Given the description of an element on the screen output the (x, y) to click on. 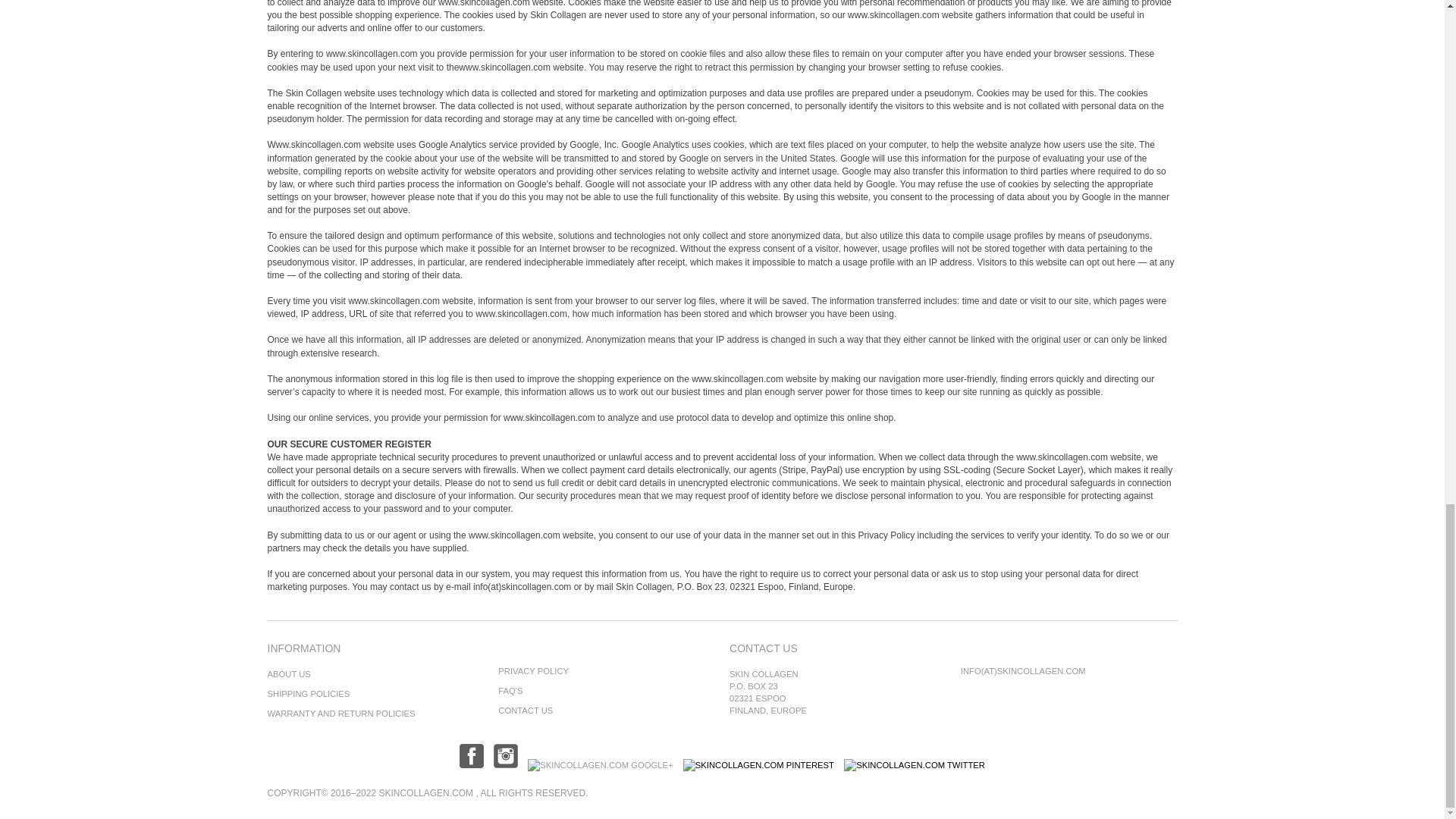
SKINCOLLAGEN.COM FACEBOOK (471, 764)
SHIPPING POLICIES (307, 693)
SKINCOLLAGEN.COM TWITTER (914, 764)
Faq's (509, 690)
ABOUT US (288, 673)
FAQ'S (509, 690)
Contact us (525, 709)
Privacy policy (533, 670)
Shipping policies (307, 693)
WARRANTY AND RETURN POLICIES (340, 713)
